Given the description of an element on the screen output the (x, y) to click on. 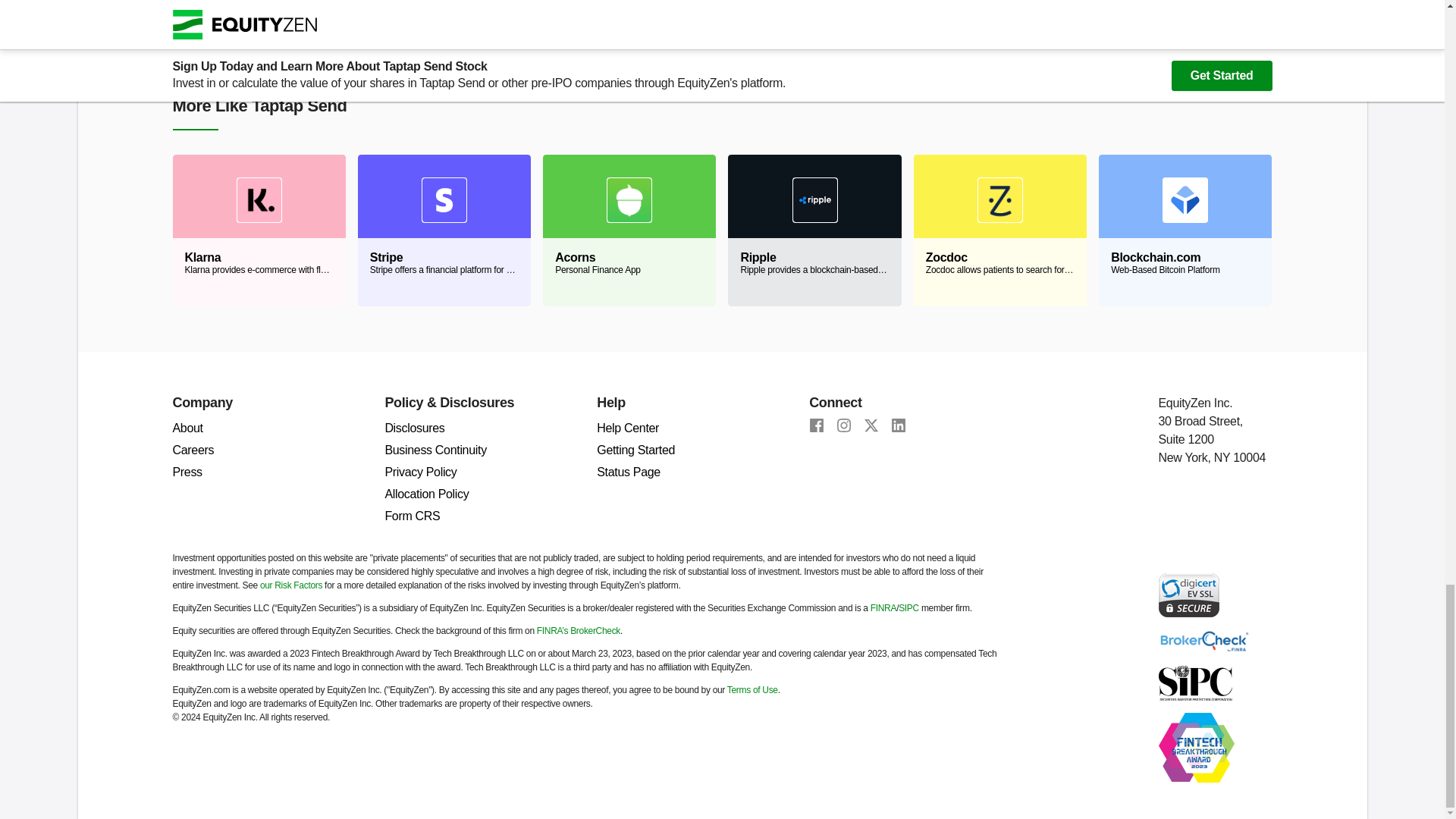
Press (187, 472)
Getting Started (635, 449)
Help Center (627, 427)
Form CRS (411, 515)
Allocation Policy (426, 493)
Status Page (628, 472)
About (188, 427)
Careers (193, 449)
FINRA (883, 607)
